Given the description of an element on the screen output the (x, y) to click on. 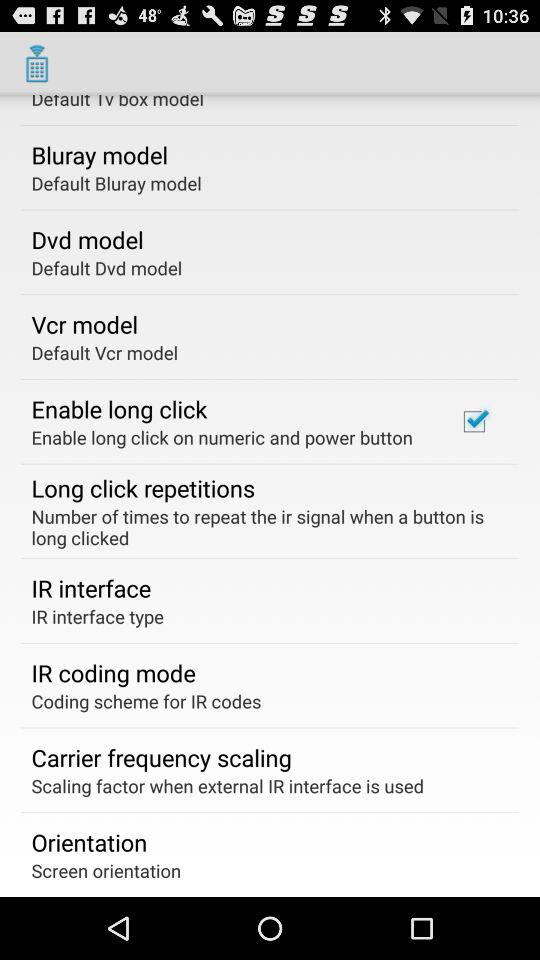
choose the number of times app (263, 526)
